Given the description of an element on the screen output the (x, y) to click on. 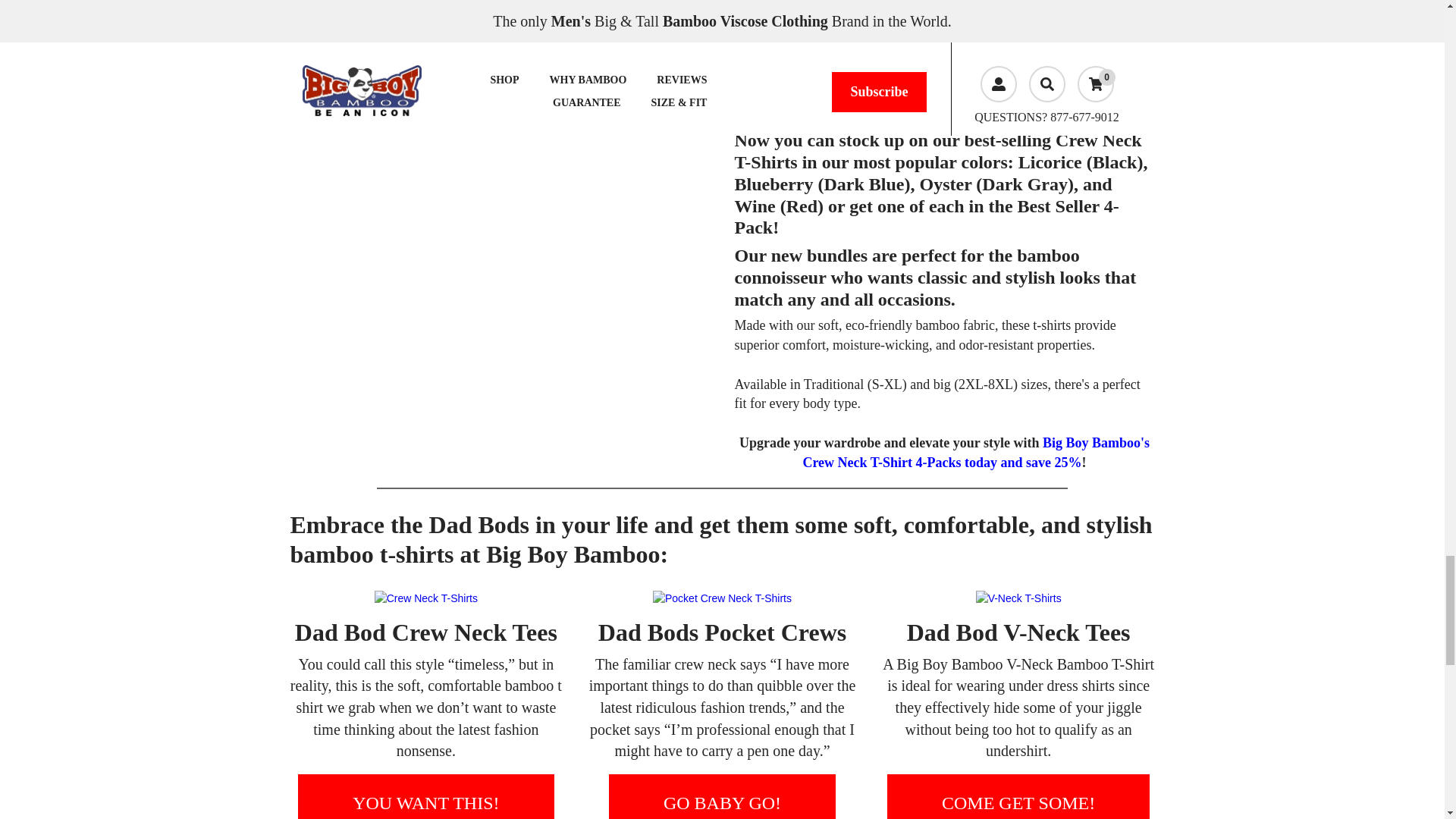
COME GET SOME! (1018, 796)
GO BABY GO! (721, 796)
YOU WANT THIS! (425, 796)
